Given the description of an element on the screen output the (x, y) to click on. 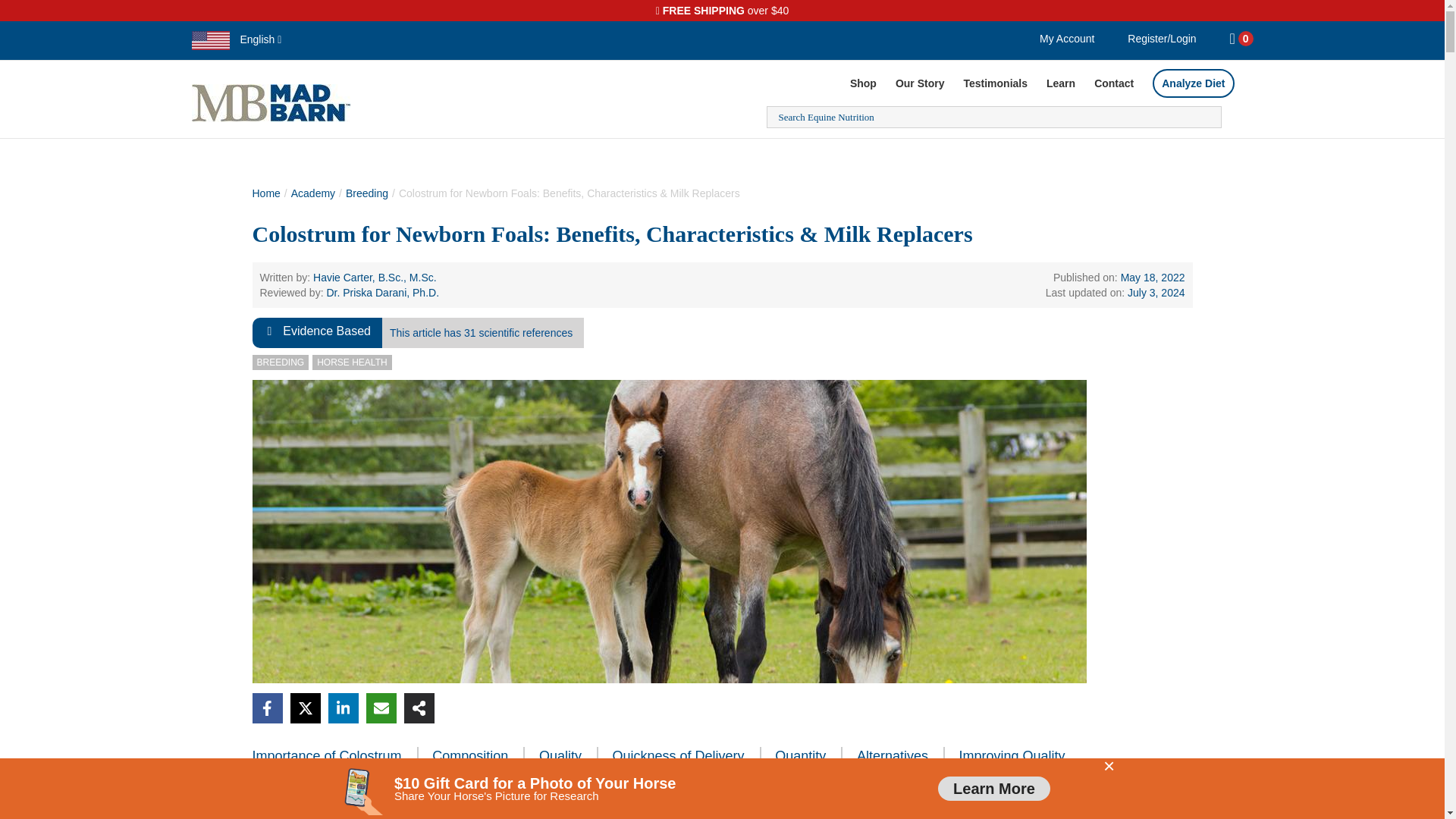
Quantity (808, 756)
My Account (1067, 38)
Composition of Colostrum (478, 756)
0 (1246, 39)
Feeding Orphaned Foals (900, 756)
View your shopping cart (1224, 39)
English (235, 39)
Quickness (686, 756)
Quality (568, 756)
Our Story (919, 83)
